Given the description of an element on the screen output the (x, y) to click on. 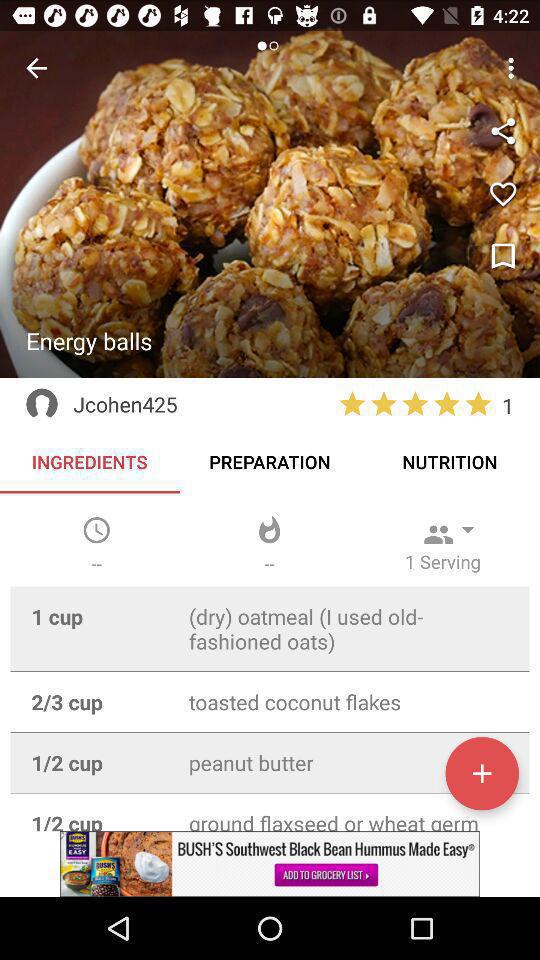
select the advertisement (270, 864)
